Given the description of an element on the screen output the (x, y) to click on. 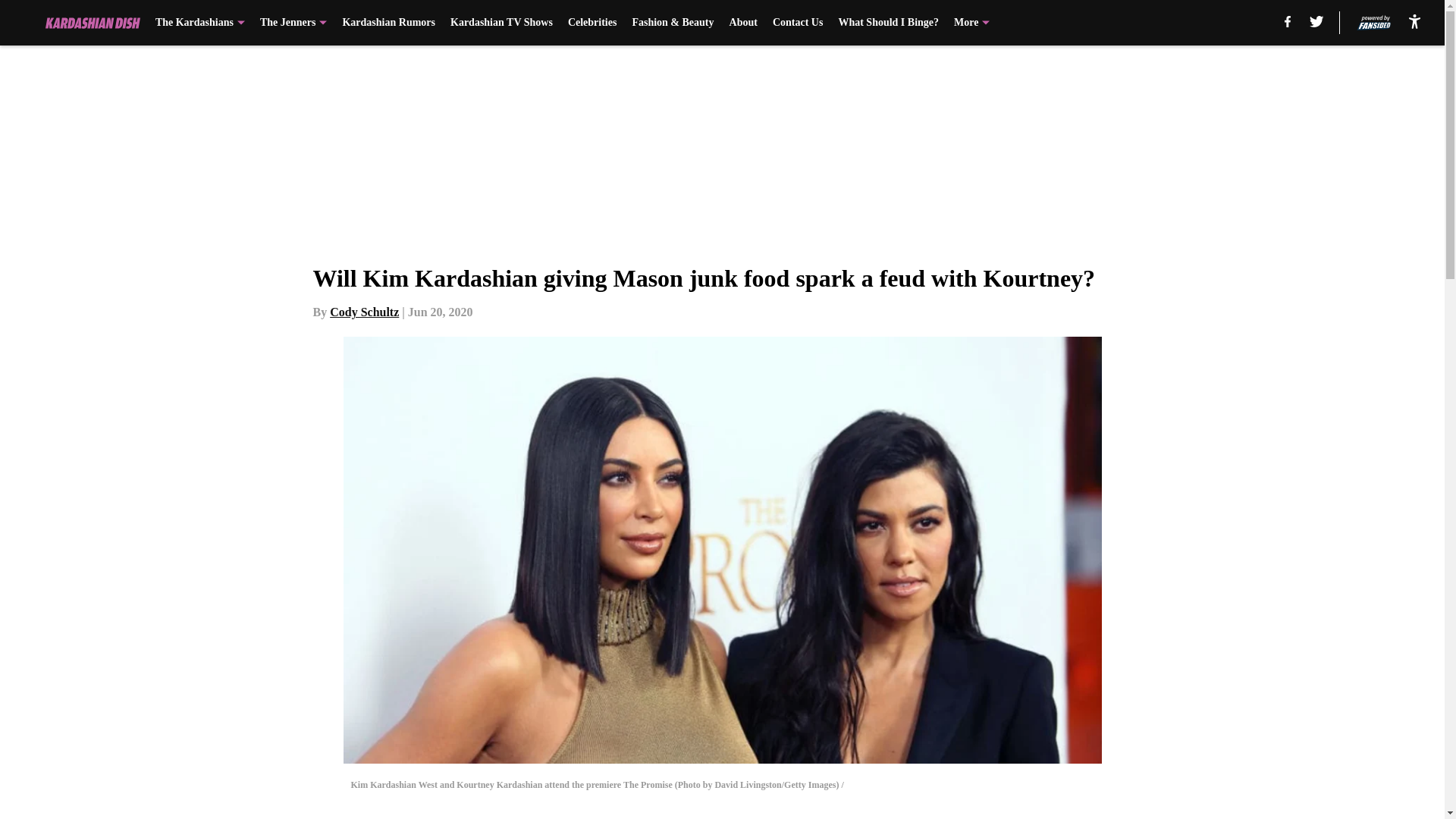
Kardashian TV Shows (501, 22)
Kardashian Rumors (388, 22)
About (743, 22)
Contact Us (798, 22)
Celebrities (592, 22)
What Should I Binge? (888, 22)
Cody Schultz (364, 311)
More (971, 22)
